Given the description of an element on the screen output the (x, y) to click on. 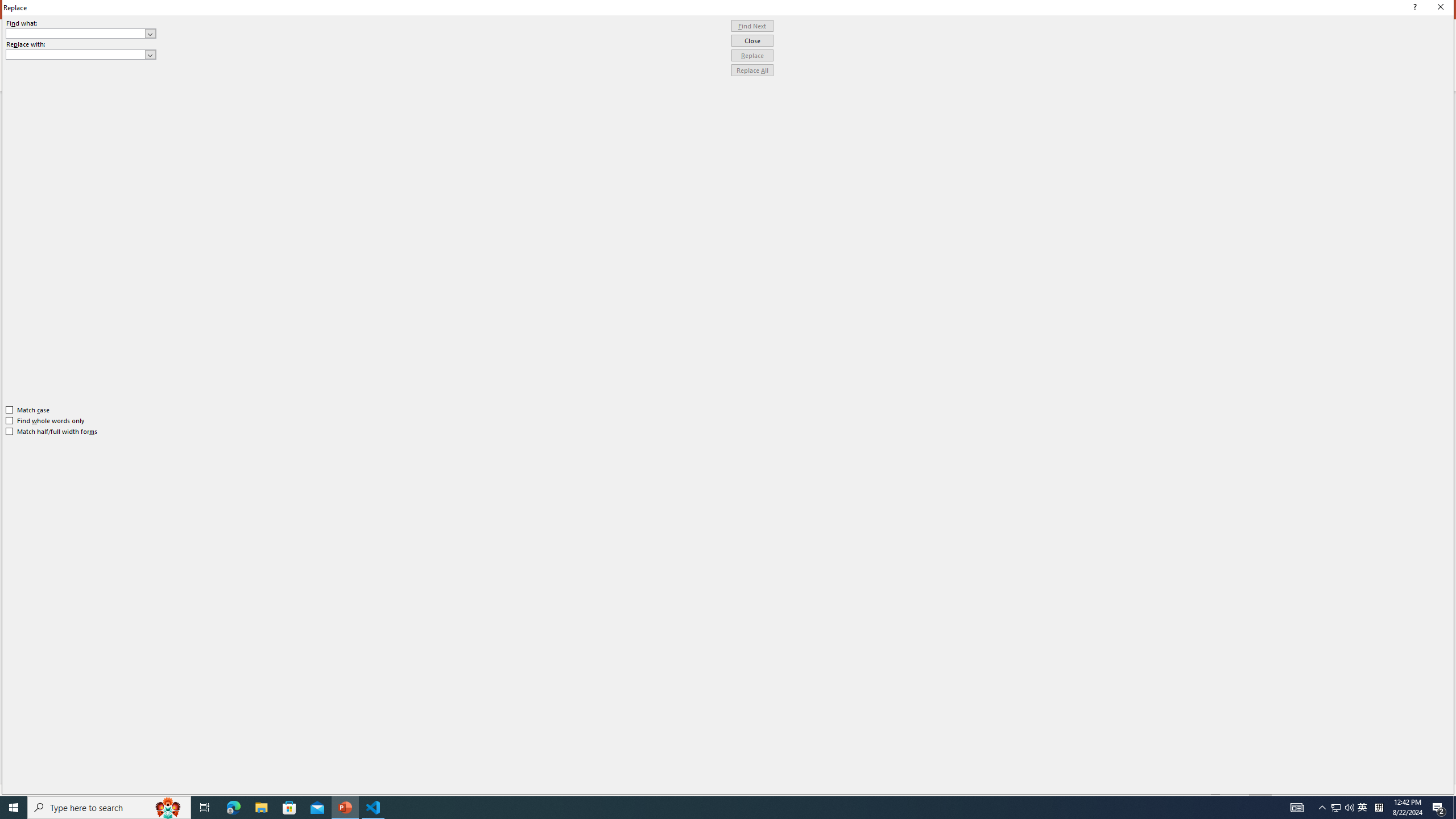
Match case (27, 409)
Find Next (752, 25)
Replace with (80, 54)
Replace All (752, 69)
Find what (80, 33)
Context help (1413, 8)
Find whole words only (45, 420)
Replace (752, 55)
Match half/full width forms (52, 431)
Replace with (75, 53)
Find what (75, 33)
